Given the description of an element on the screen output the (x, y) to click on. 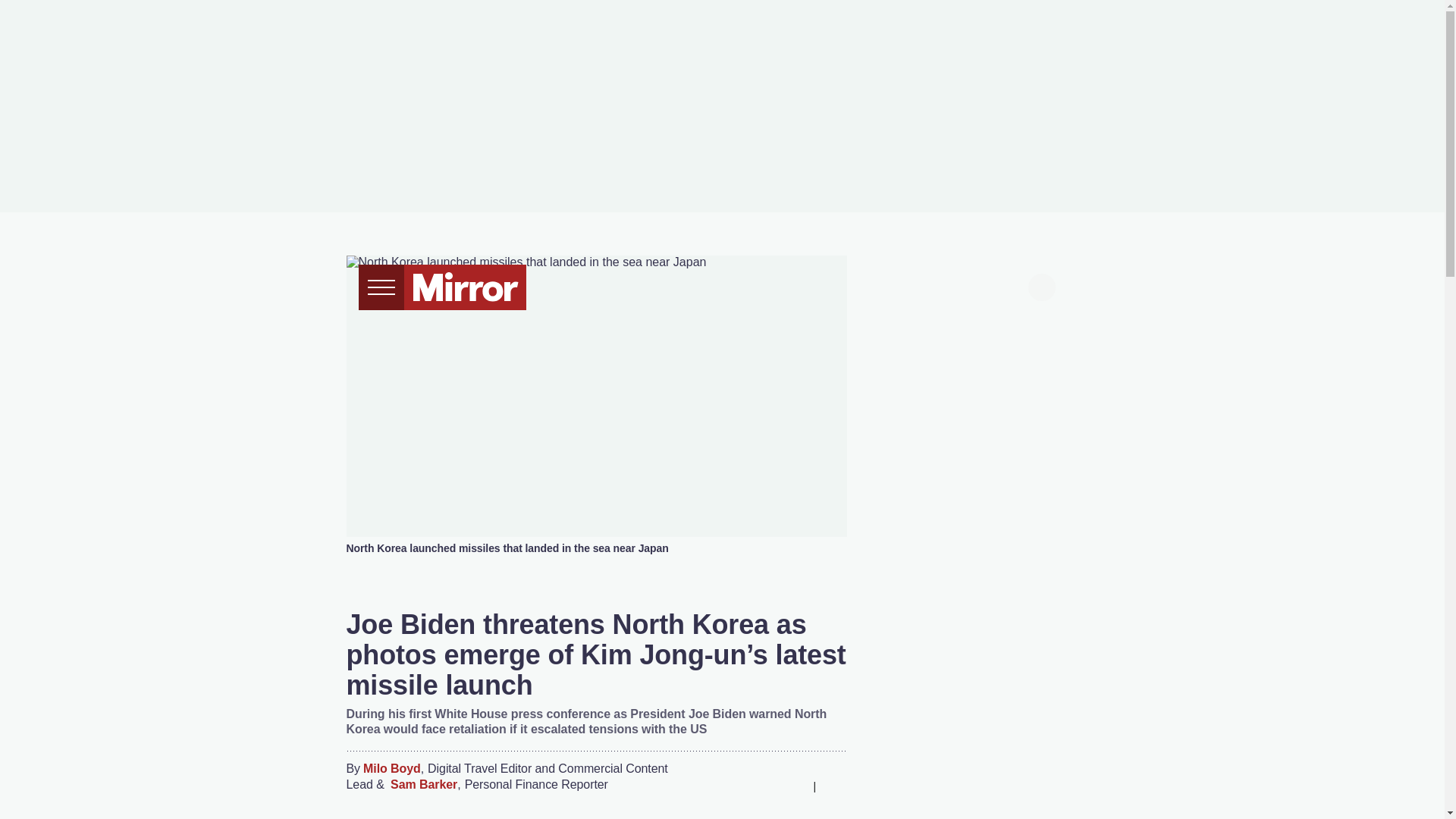
facebook (897, 285)
Twitter (733, 785)
Whatsapp (763, 785)
snapchat (1012, 285)
Facebook (702, 785)
Sam Barker (423, 785)
Milo Boyd (391, 769)
instagram (984, 285)
twitter (926, 285)
Comments (834, 785)
